Given the description of an element on the screen output the (x, y) to click on. 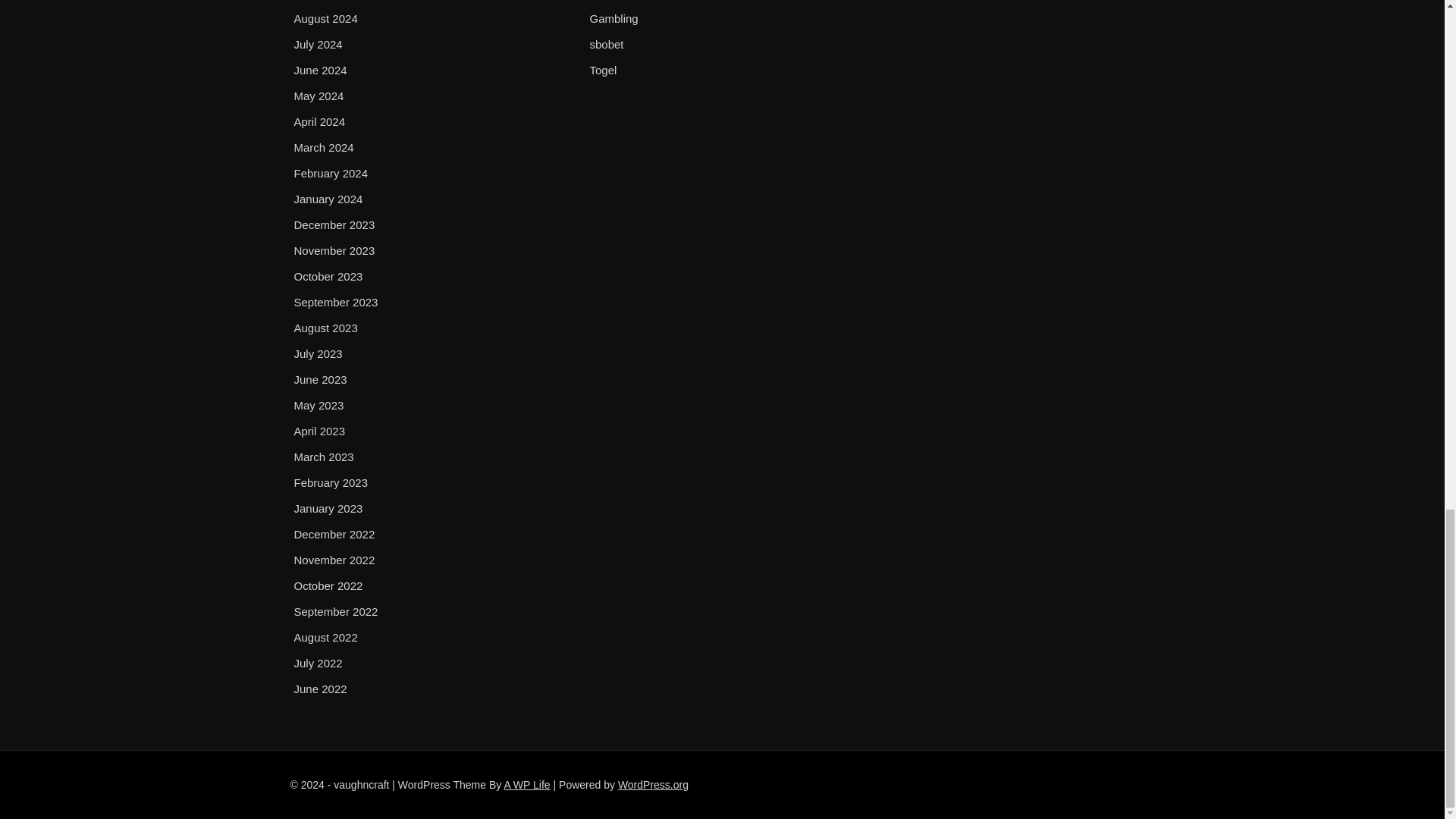
December 2022 (334, 534)
June 2024 (320, 70)
December 2023 (334, 225)
January 2023 (328, 508)
September 2023 (336, 302)
May 2024 (318, 95)
June 2023 (320, 380)
November 2022 (334, 560)
November 2023 (334, 250)
February 2024 (331, 173)
